Given the description of an element on the screen output the (x, y) to click on. 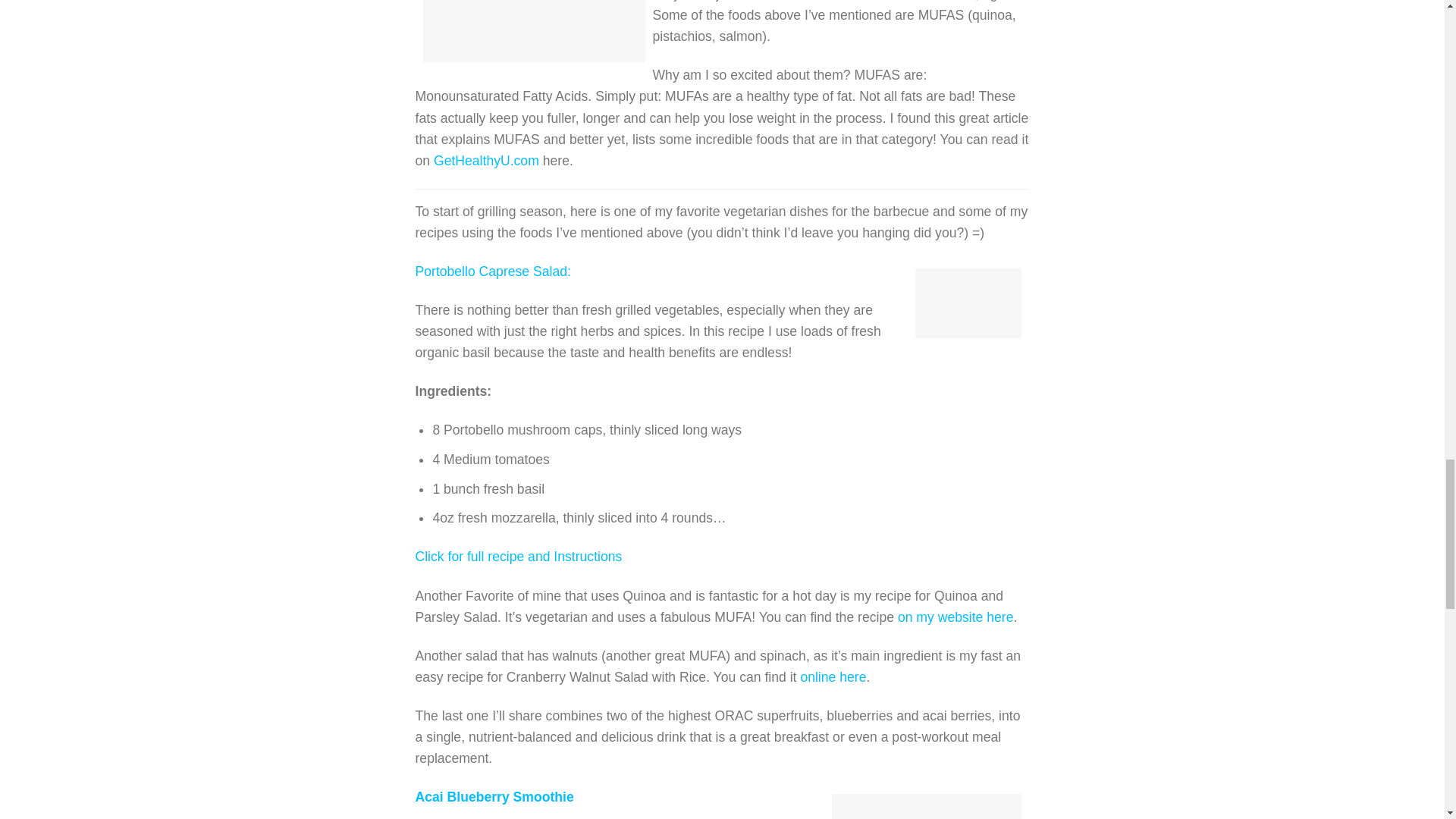
Acai Blueberry Smoothie (493, 796)
Click for full recipe and Instructions (518, 556)
online here (832, 676)
GetHealthyU.com (485, 160)
Portobello Caprese Salad: (492, 271)
on my website here (955, 616)
